Given the description of an element on the screen output the (x, y) to click on. 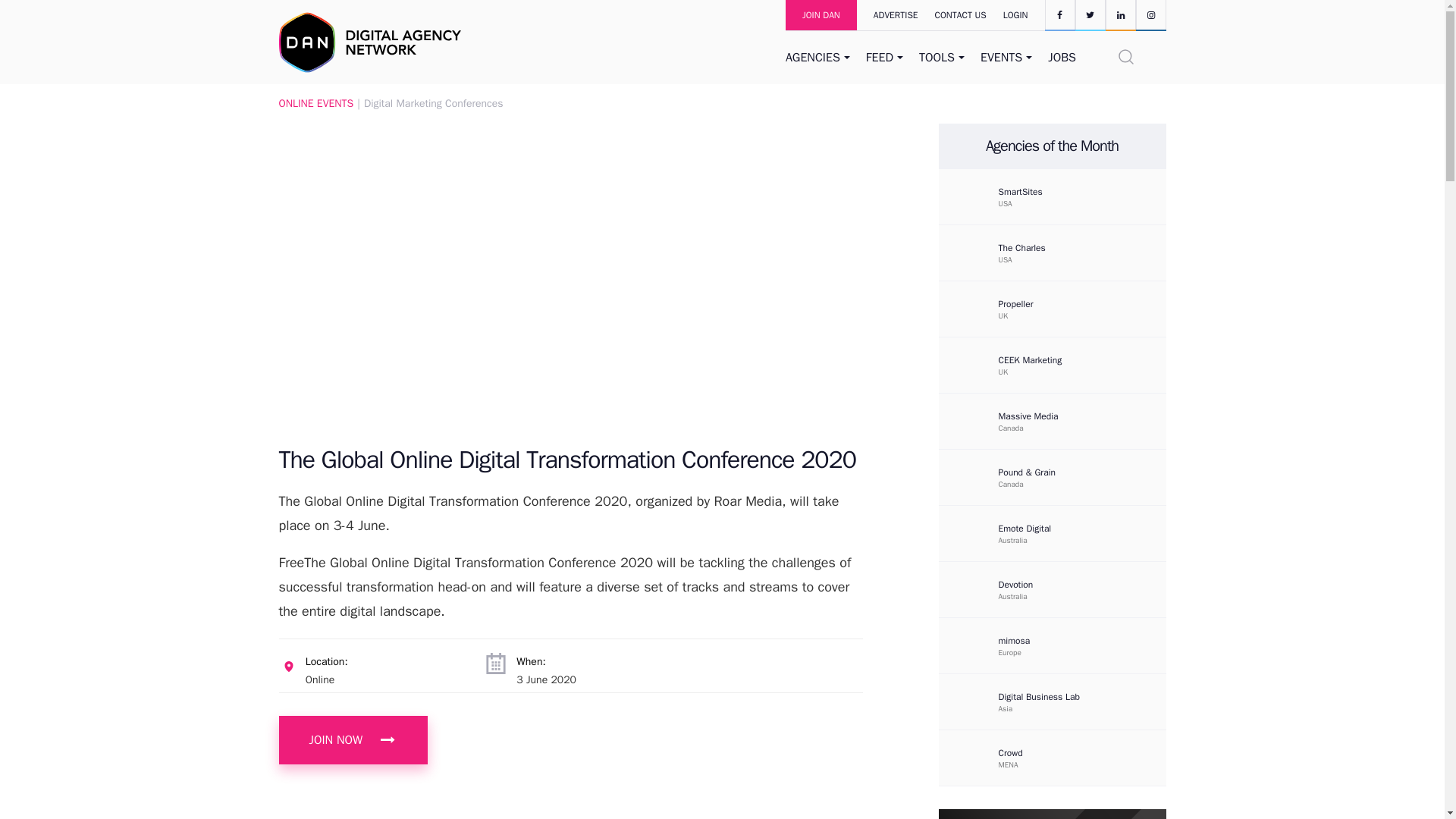
SmartSites (1051, 196)
Propeller (1051, 309)
CONTACT US (952, 15)
Propeller (1064, 304)
SmartSites (971, 196)
AGENCIES (819, 57)
The Charles (1064, 247)
LOGIN (1016, 15)
Facebook (1060, 14)
SmartSites (1064, 192)
